Given the description of an element on the screen output the (x, y) to click on. 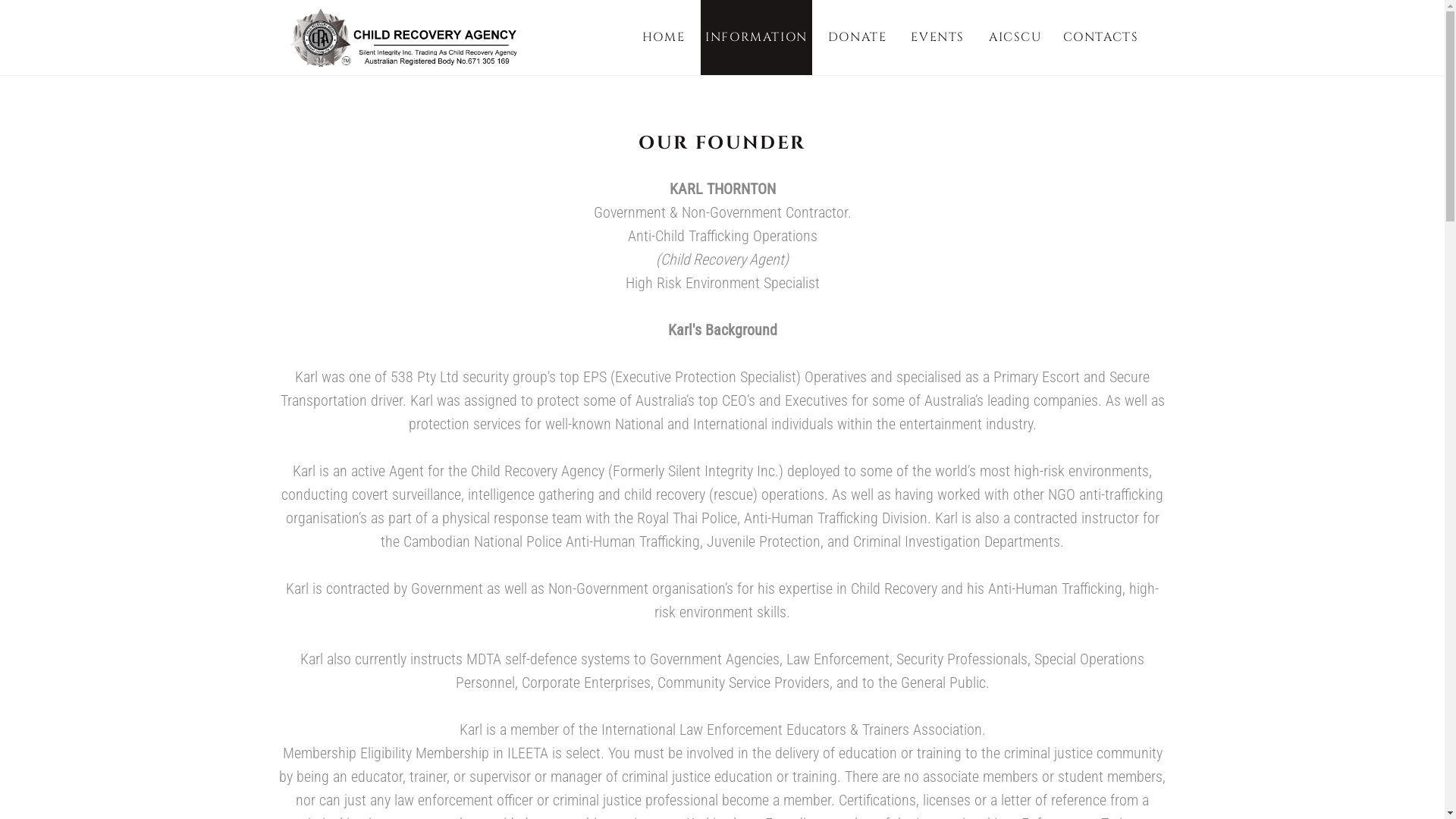
HOME Element type: text (663, 37)
DONATE Element type: text (857, 37)
INFORMATION Element type: text (756, 37)
AICSCU Element type: text (1015, 37)
EVENTS Element type: text (937, 37)
CONTACTS Element type: text (1100, 37)
